Given the description of an element on the screen output the (x, y) to click on. 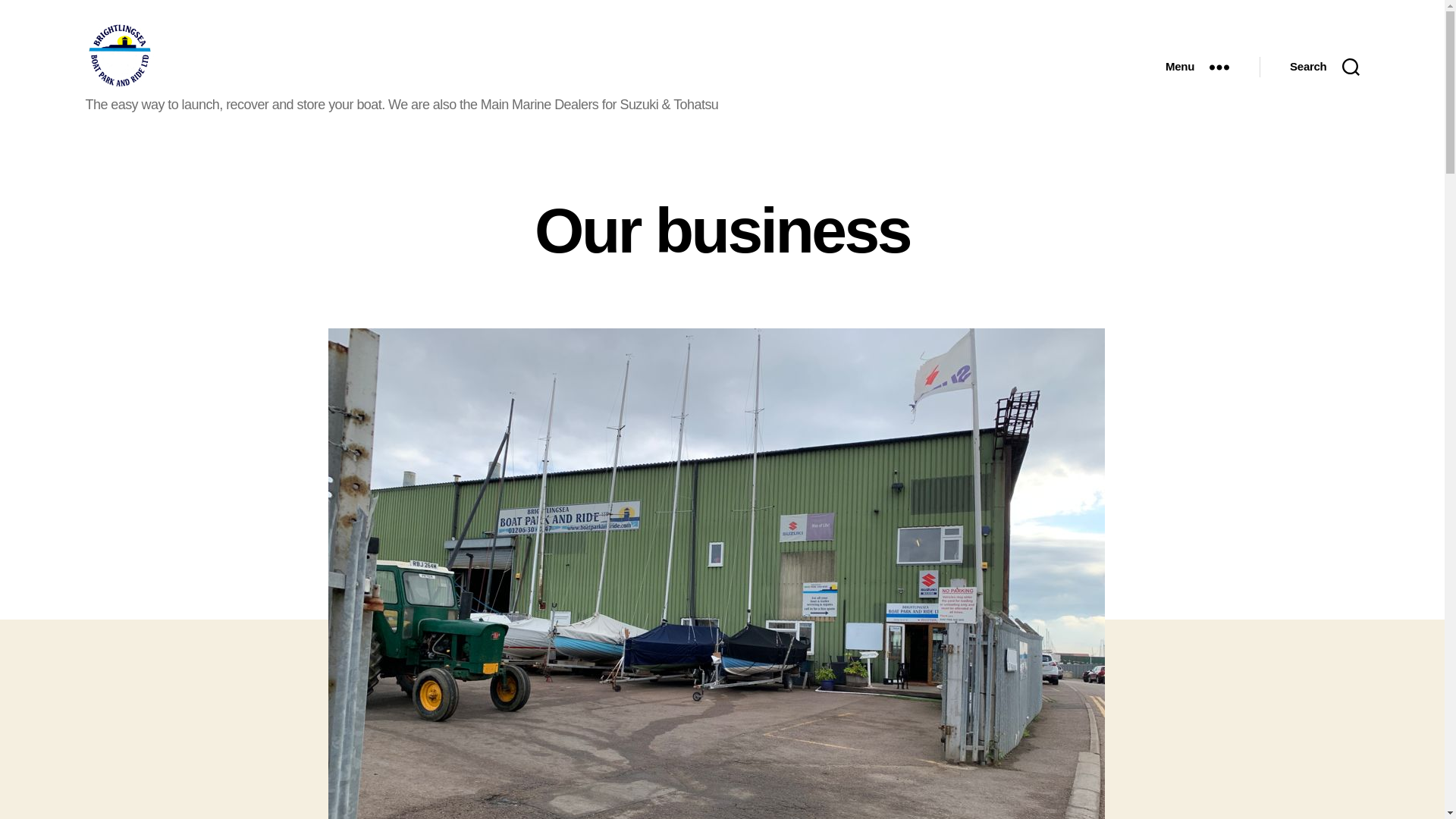
Menu (1197, 66)
Search (1324, 66)
